Given the description of an element on the screen output the (x, y) to click on. 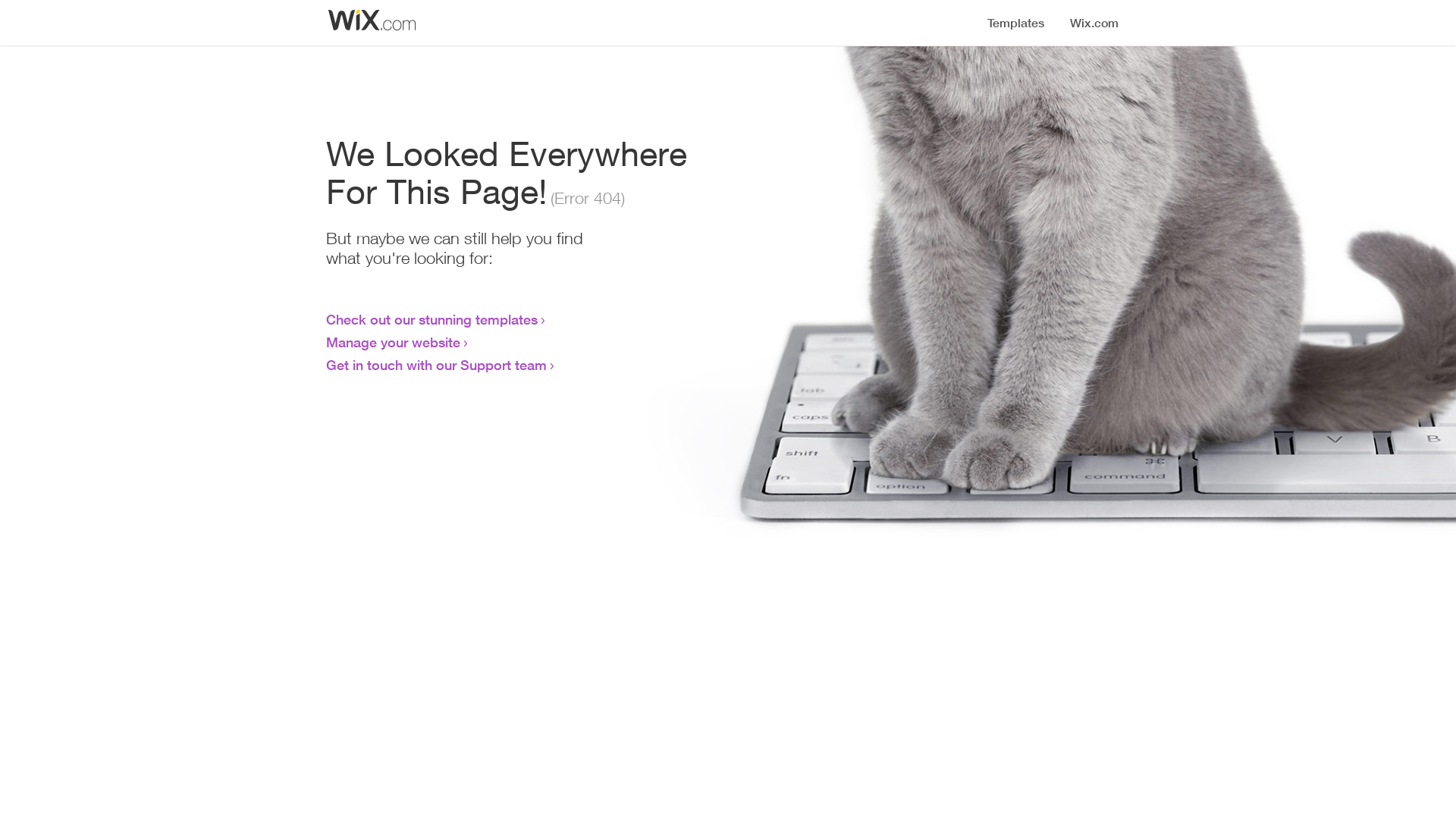
Check out our stunning templates Element type: text (431, 318)
Manage your website Element type: text (393, 341)
Get in touch with our Support team Element type: text (436, 364)
